Given the description of an element on the screen output the (x, y) to click on. 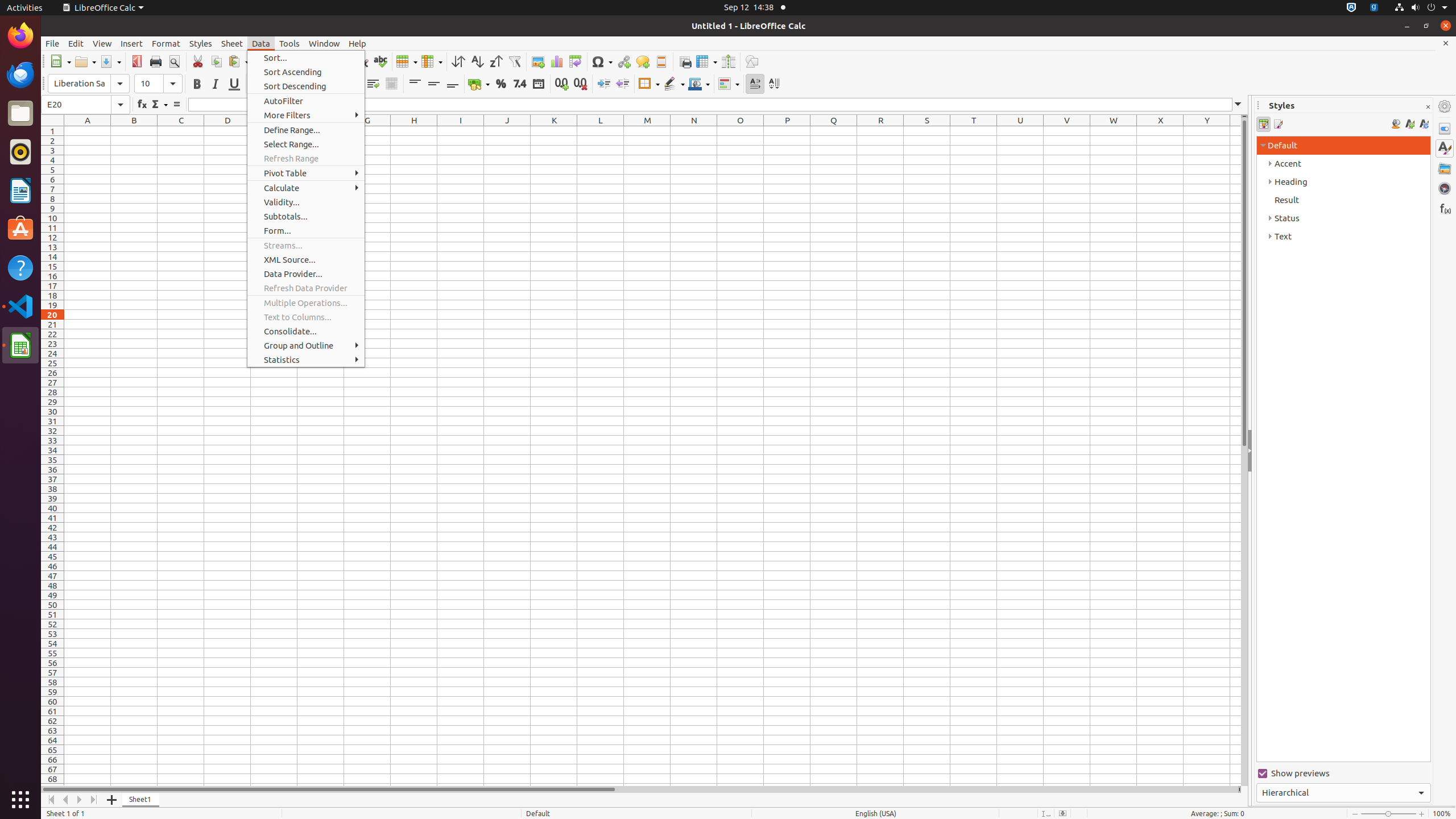
Image Element type: push-button (537, 61)
Navigator Element type: radio-button (1444, 188)
LibreOffice Calc Element type: push-button (20, 344)
Data Provider... Element type: menu-item (305, 273)
Edit Element type: menu (75, 43)
